Given the description of an element on the screen output the (x, y) to click on. 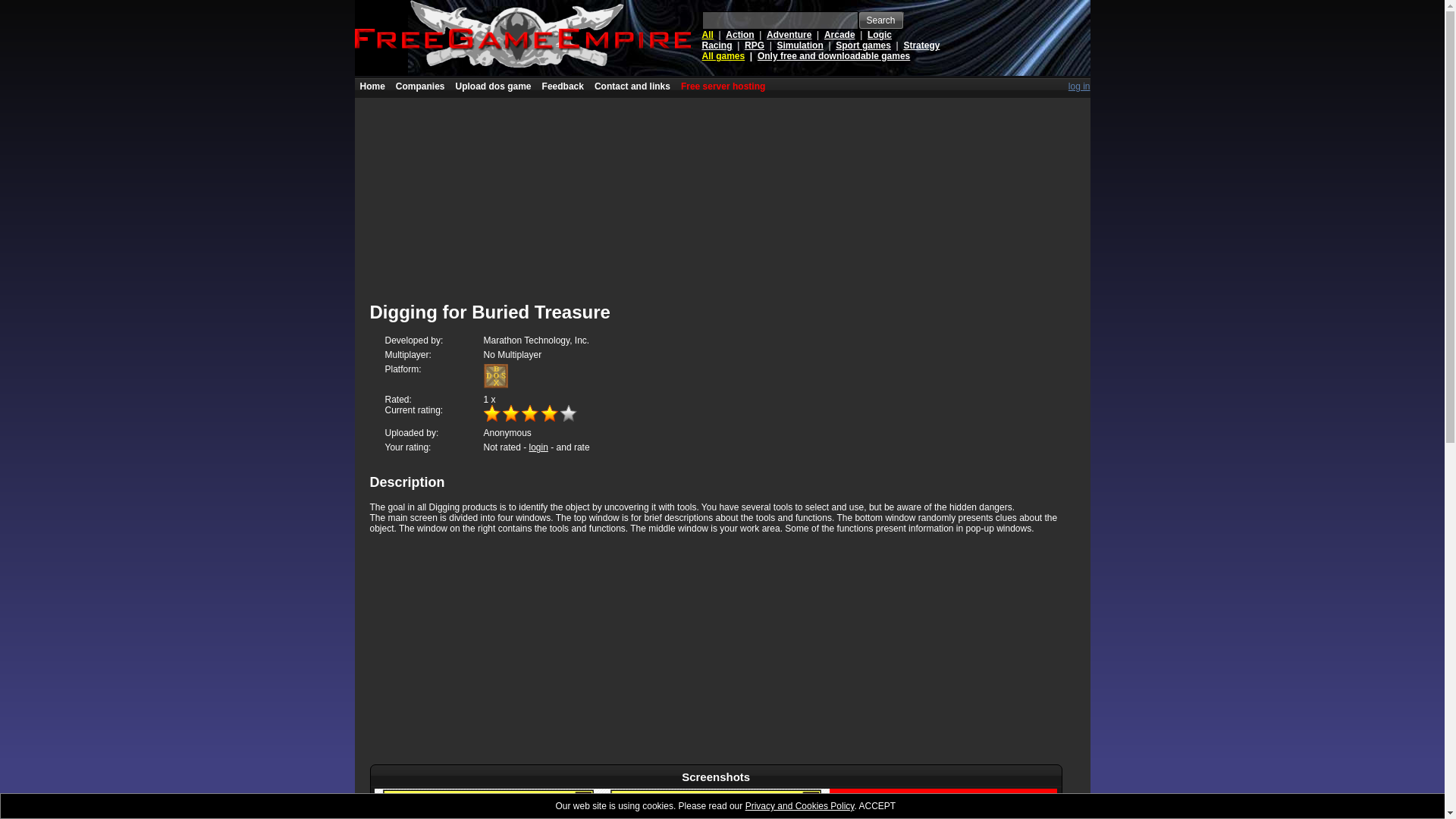
All games (723, 55)
All (707, 34)
Simulation (799, 45)
log in (1079, 86)
RPG (754, 45)
Racing (716, 45)
Action (739, 34)
Game developing companies (420, 86)
Go back to the defaul portal page (371, 86)
Strategy (920, 45)
Feedback (562, 86)
Upload dos game (493, 86)
login (538, 447)
Feedback (562, 86)
